Given the description of an element on the screen output the (x, y) to click on. 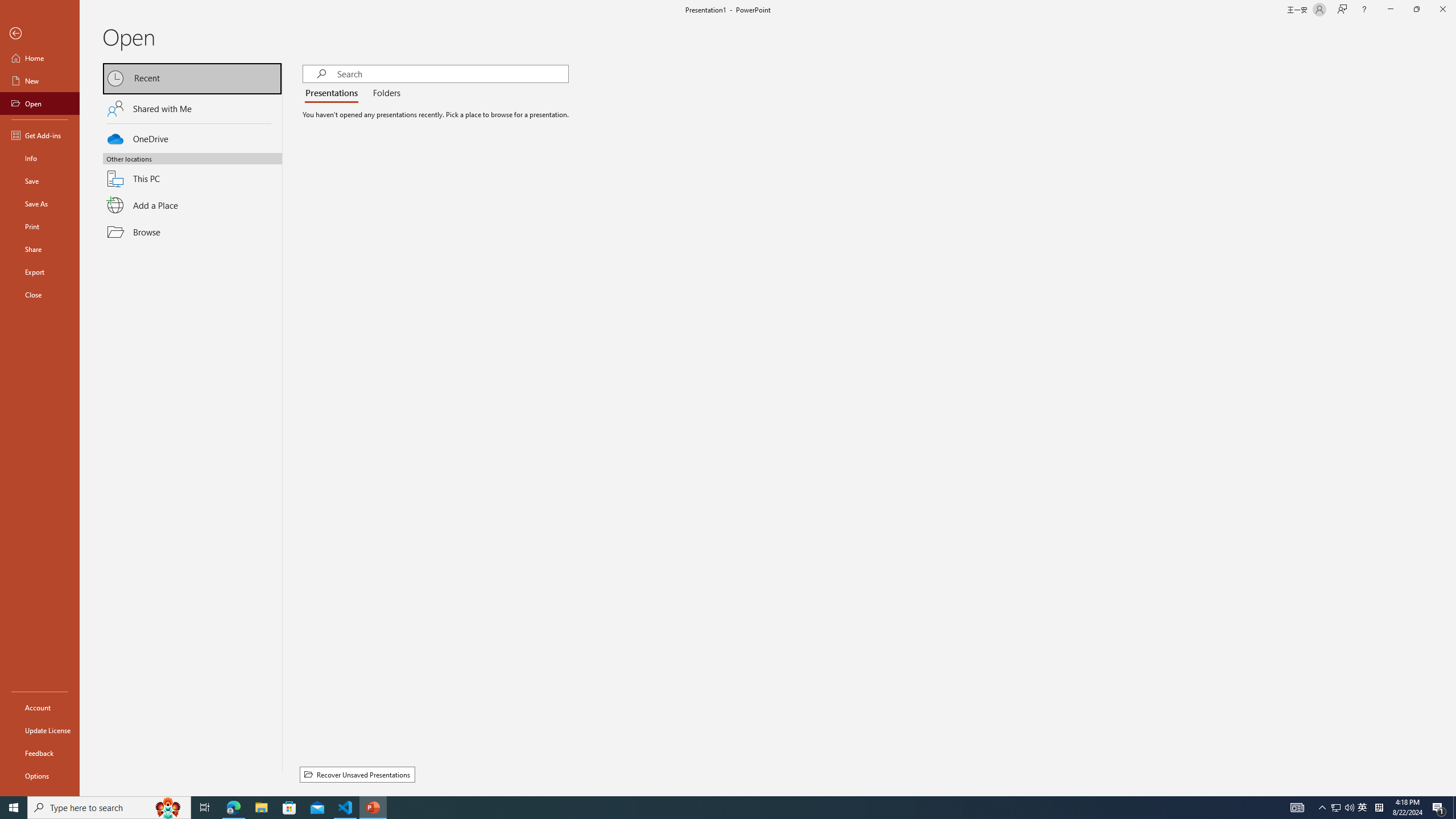
Options (40, 775)
Save As (40, 203)
Update License (40, 730)
Recent (192, 78)
Shared with Me (192, 108)
Browse (192, 231)
Recover Unsaved Presentations (356, 774)
This PC (192, 171)
Feedback (40, 753)
Info (40, 157)
Print (40, 225)
Add a Place (192, 204)
